Given the description of an element on the screen output the (x, y) to click on. 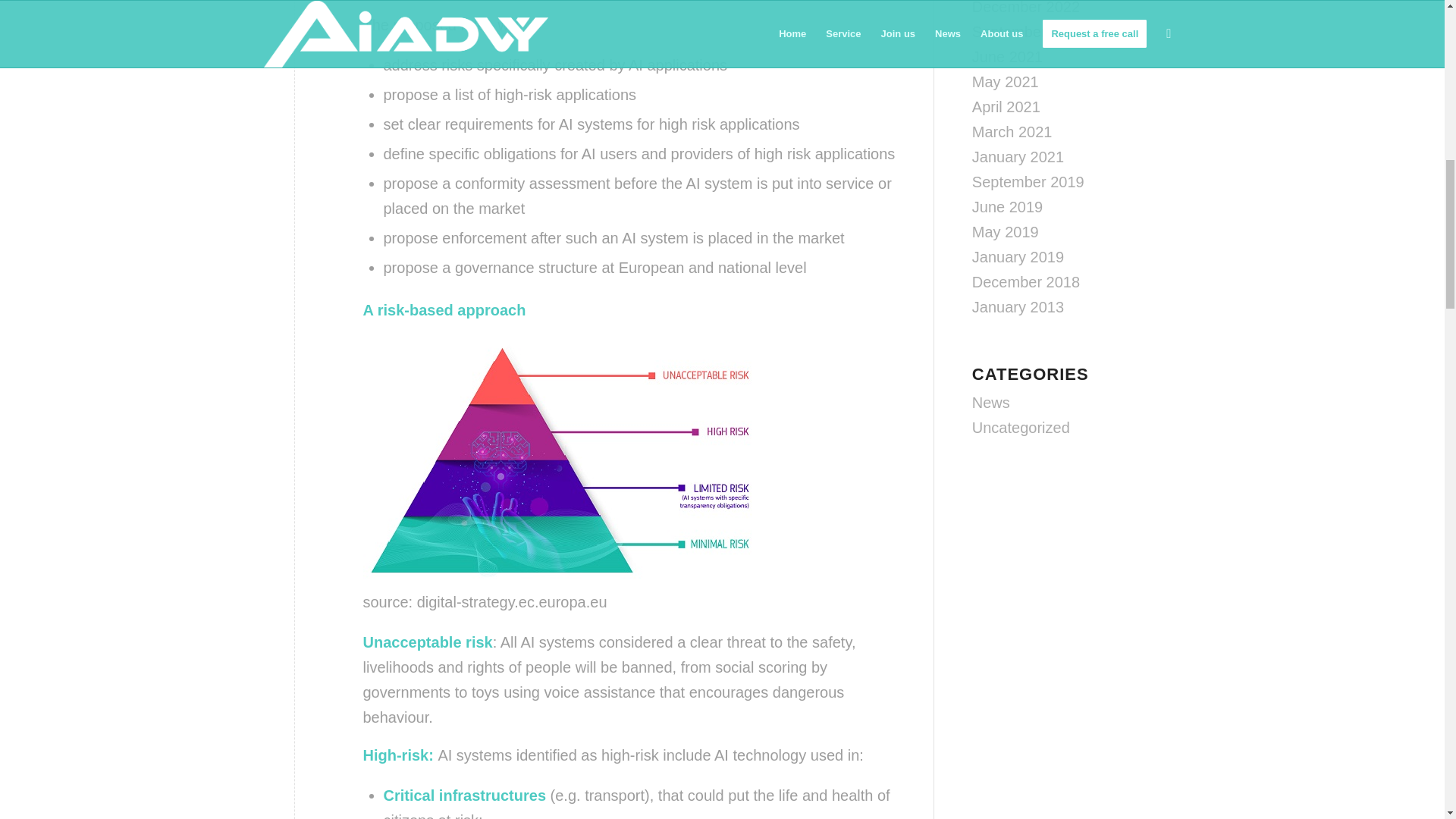
June 2021 (1007, 56)
April 2021 (1006, 106)
January 2019 (1018, 256)
December 2022 (1026, 7)
May 2019 (1005, 231)
May 2021 (1005, 81)
December 2018 (1026, 281)
January 2021 (1018, 156)
March 2021 (1012, 131)
September 2021 (1028, 31)
June 2019 (1007, 207)
September 2019 (1028, 181)
